Given the description of an element on the screen output the (x, y) to click on. 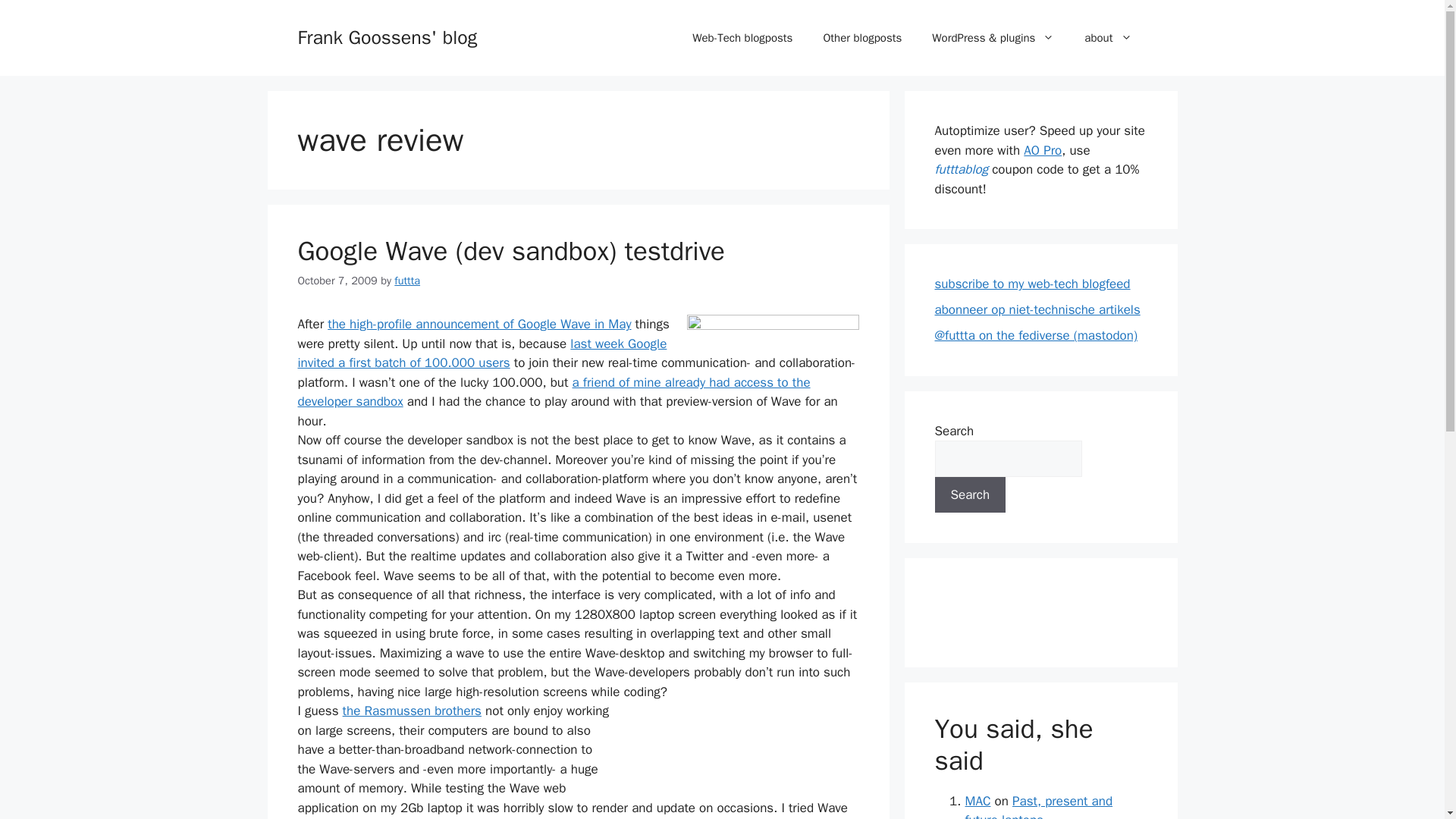
Other blogposts (862, 37)
Jens and Lars Rasmussen at Google (411, 710)
Frank Goossens' blog (387, 37)
a friend of mine already had access to the developer sandbox (553, 392)
webmonkey.com reporting on wave back in may 2009 (478, 324)
the high-profile announcement of Google Wave in May (478, 324)
the Rasmussen brothers (411, 710)
AO Pro (1042, 150)
abonneer op niet-technische artikels (1037, 309)
Search (970, 493)
